Given the description of an element on the screen output the (x, y) to click on. 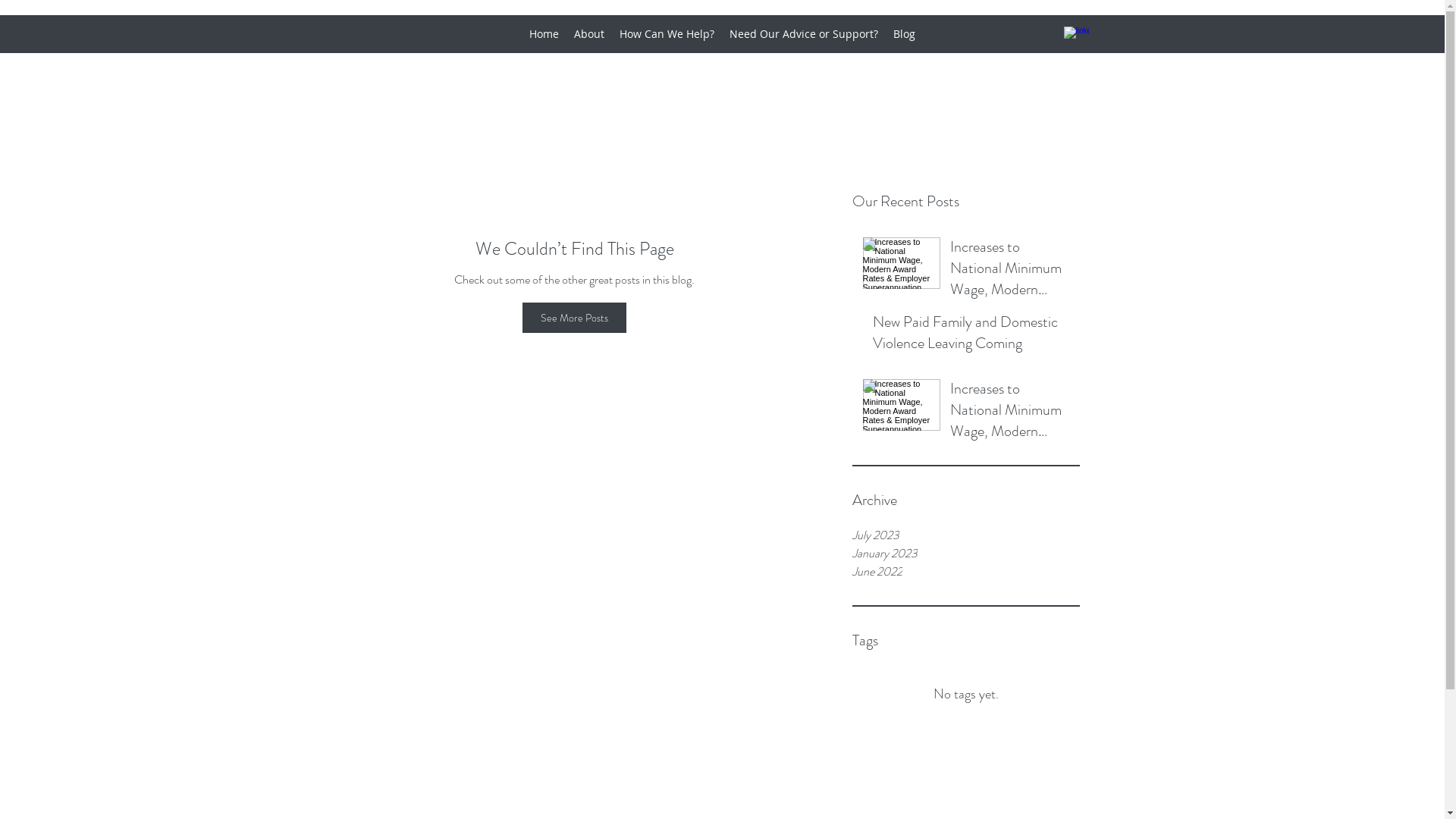
How Can We Help? Element type: text (666, 33)
New Paid Family and Domestic Violence Leaving Coming Element type: text (971, 335)
July 2023 Element type: text (965, 535)
Home Element type: text (543, 33)
About Element type: text (588, 33)
See More Posts Element type: text (574, 317)
Blog Element type: text (903, 33)
June 2022 Element type: text (965, 571)
Need Our Advice or Support? Element type: text (803, 33)
January 2023 Element type: text (965, 553)
